Given the description of an element on the screen output the (x, y) to click on. 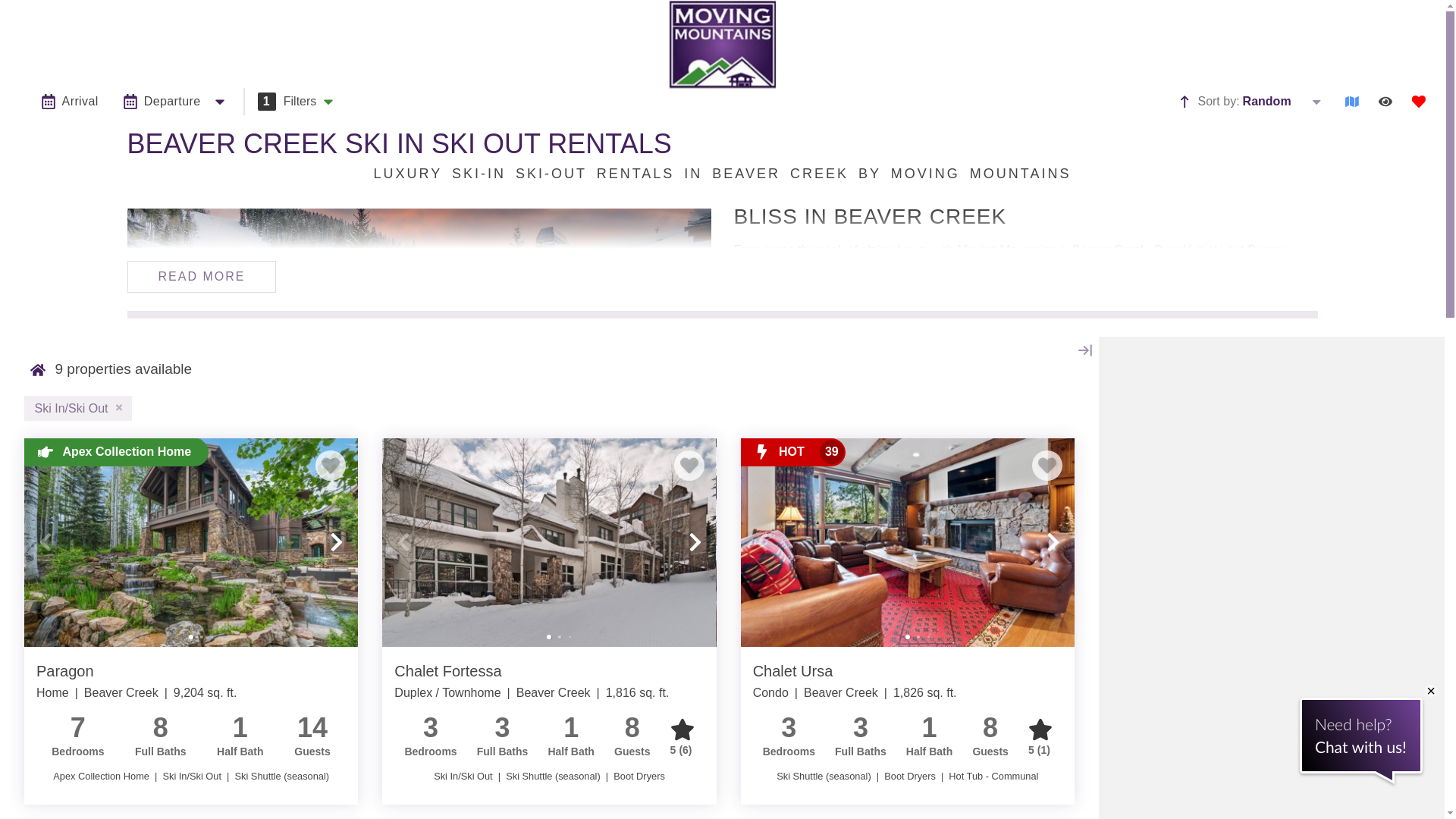
Sort By Random Default (1184, 101)
MAP COLLAPSE AND EXPAND (1085, 350)
MENU (26, 45)
Sort Random Down (1315, 101)
REMOVE FILTER (119, 407)
Properties Available (37, 369)
